Given the description of an element on the screen output the (x, y) to click on. 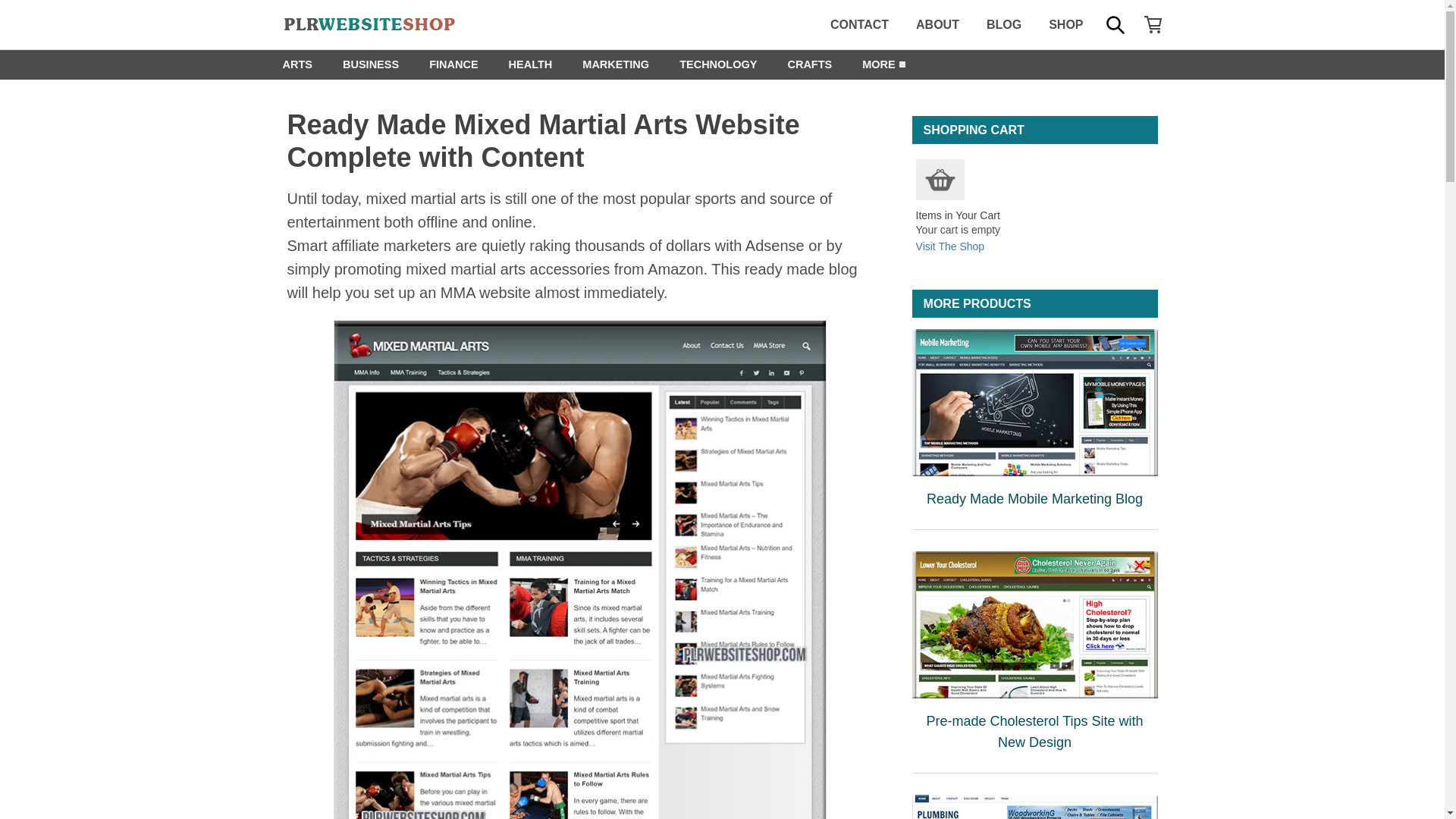
SHOP (1065, 23)
SEARCH (1114, 23)
ABOUT (937, 23)
HEALTH (530, 64)
MORE (879, 64)
BUSINESS (370, 64)
SHOPPING CART (1151, 24)
Pre-made Cholesterol Tips Site with New Design (1034, 624)
Shopping Cart (939, 178)
MARKETING (615, 64)
CONTACT (859, 23)
Ready Made Plumbing Website with Special Design (1034, 806)
TECHNOLOGY (717, 64)
